Given the description of an element on the screen output the (x, y) to click on. 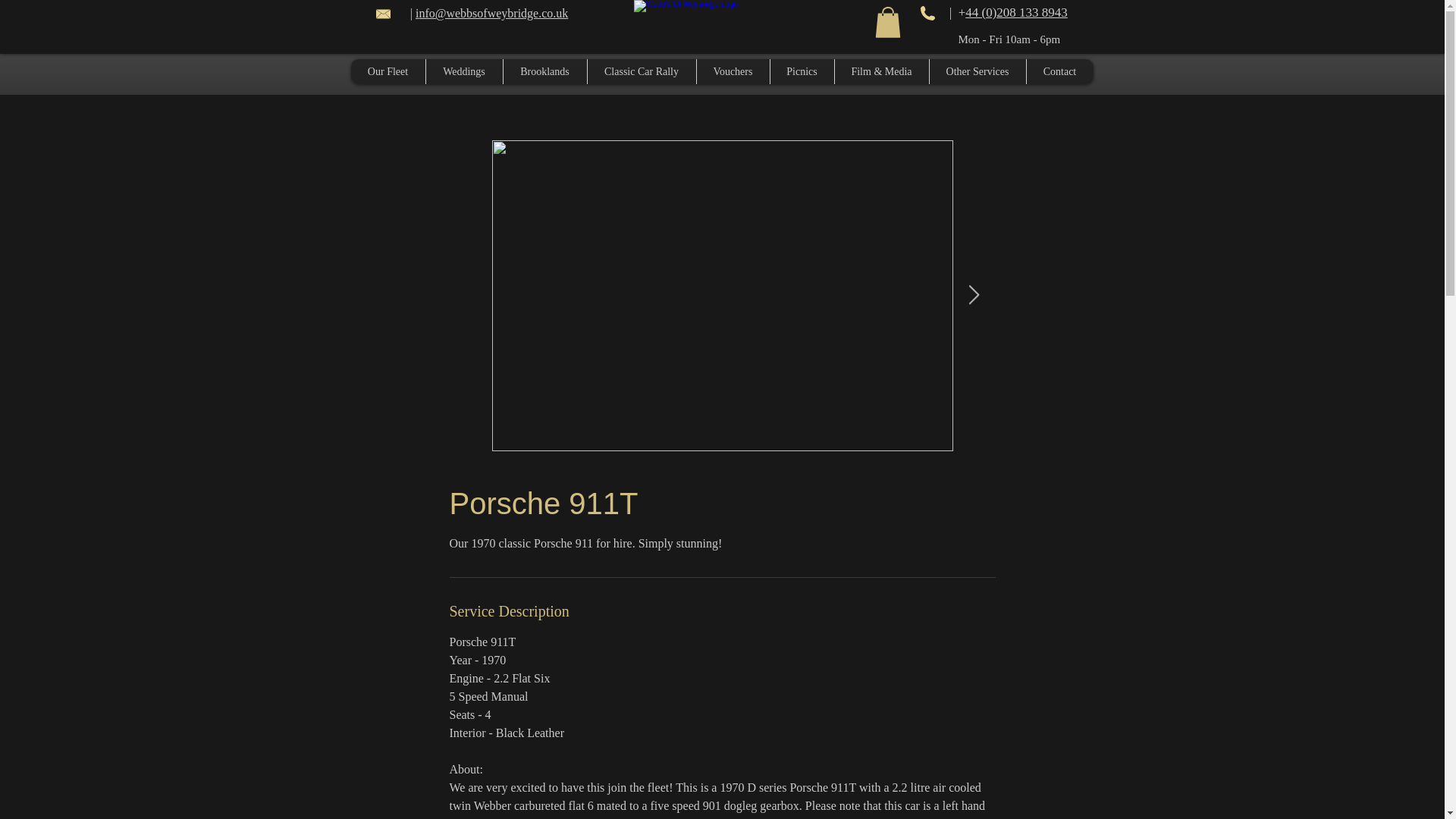
Classic Car Rally (640, 71)
Vouchers (732, 71)
Weddings (463, 71)
Brooklands (544, 71)
Picnics (800, 71)
Mon - Fri 10am - 6pm (1009, 39)
Contact (1059, 71)
Our Fleet (387, 71)
Other Services (976, 71)
